Given the description of an element on the screen output the (x, y) to click on. 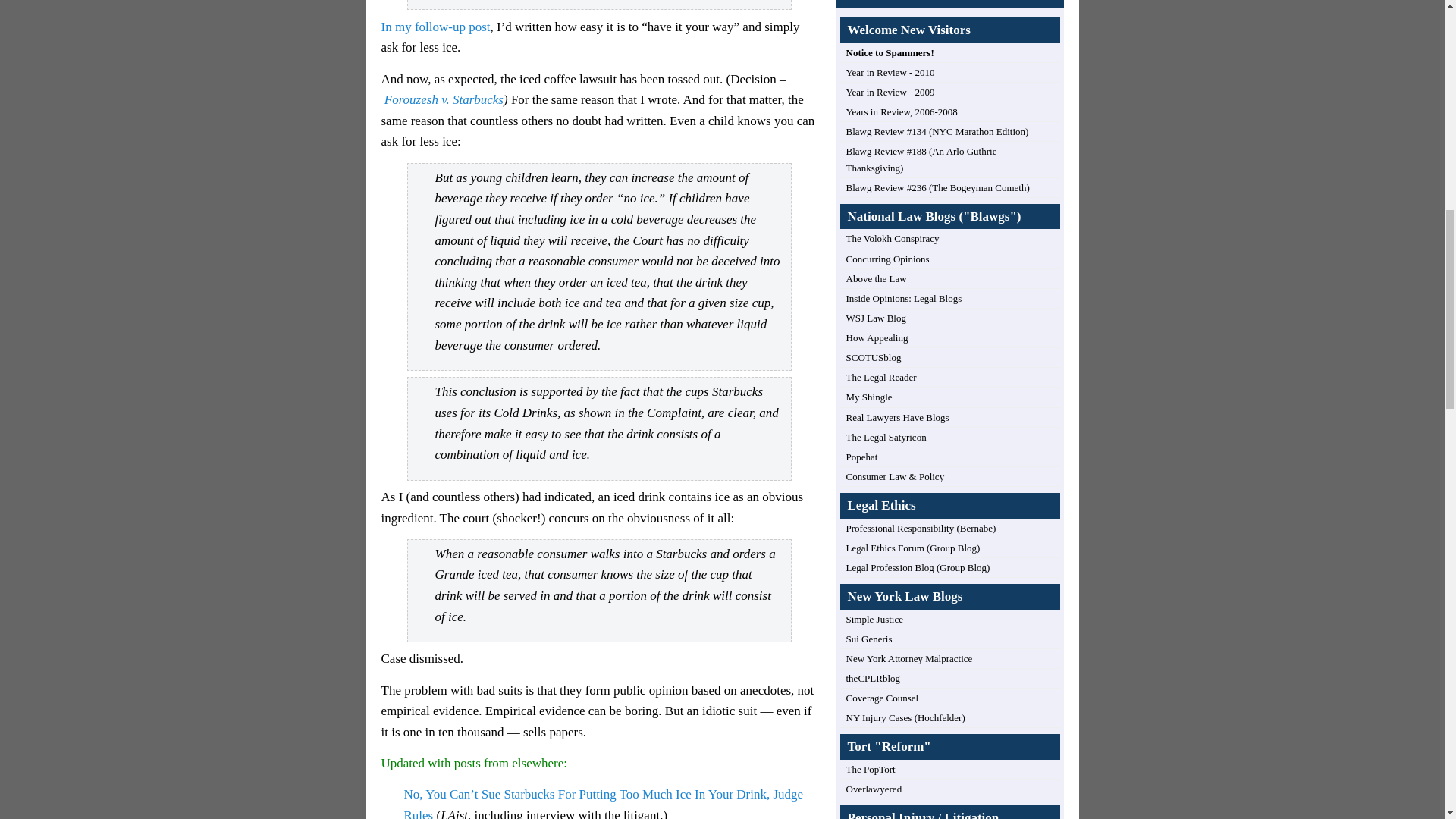
In my follow-up post (434, 26)
Year in Review - 2009 (889, 91)
Forouzesh v. Starbucks (443, 99)
Year in Review - 2010 (889, 71)
Notice to Spammers! (889, 52)
Page 4 (598, 603)
Page 3 (598, 452)
